Given the description of an element on the screen output the (x, y) to click on. 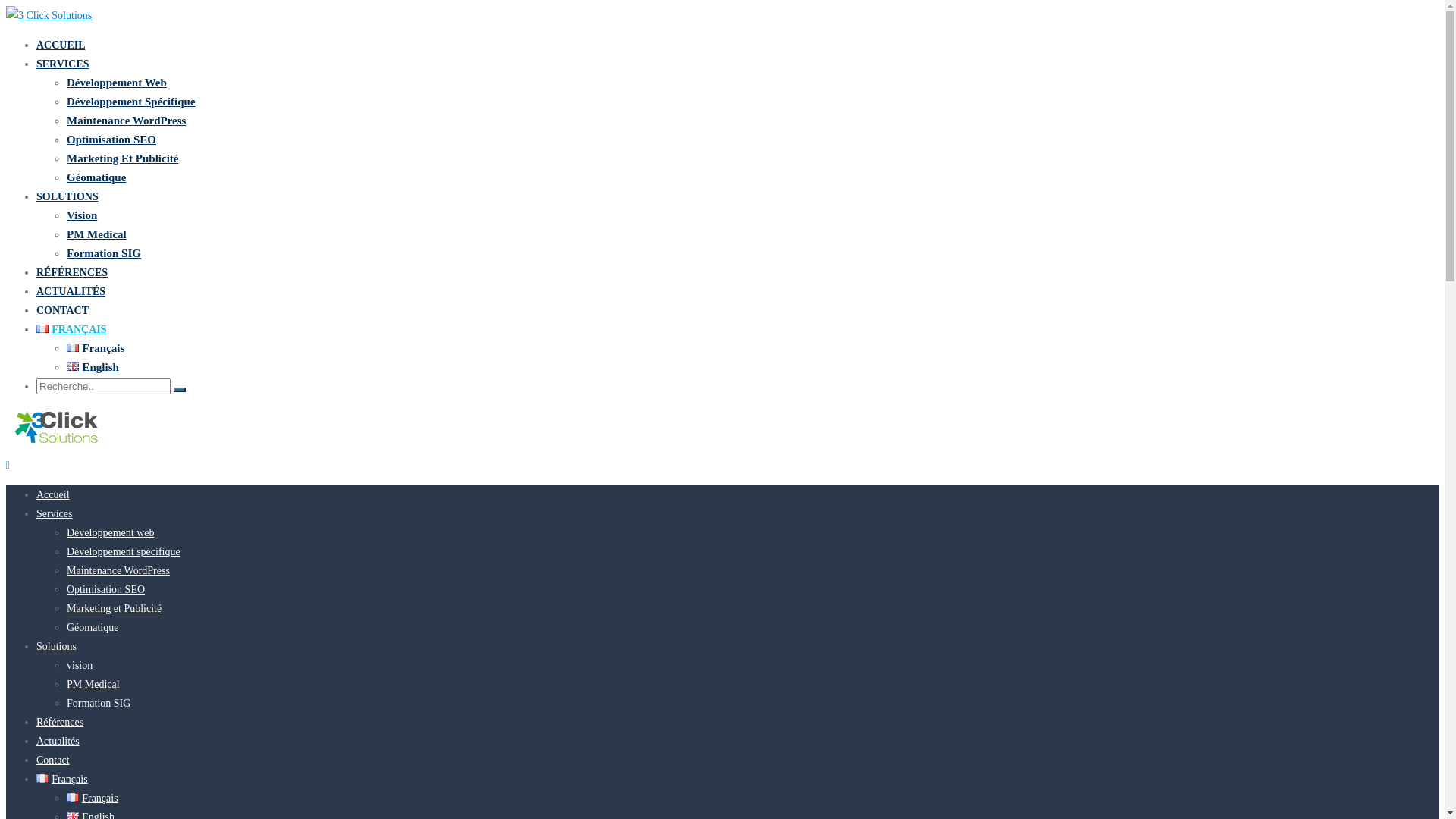
PM Medical Element type: text (96, 234)
Formation SIG Element type: text (98, 703)
Services Element type: text (54, 513)
Optimisation SEO Element type: text (105, 589)
English Element type: text (92, 366)
Maintenance WordPress Element type: text (117, 570)
SERVICES Element type: text (62, 63)
vision Element type: text (79, 665)
Optimisation SEO Element type: text (111, 139)
Vision Element type: text (81, 215)
PM Medical Element type: text (92, 684)
Maintenance WordPress Element type: text (125, 120)
ACCUEIL Element type: text (60, 44)
CONTACT Element type: text (62, 310)
Formation SIG Element type: text (103, 253)
SOLUTIONS Element type: text (67, 196)
Solutions Element type: text (56, 646)
Contact Element type: text (52, 759)
Accueil Element type: text (52, 494)
